Given the description of an element on the screen output the (x, y) to click on. 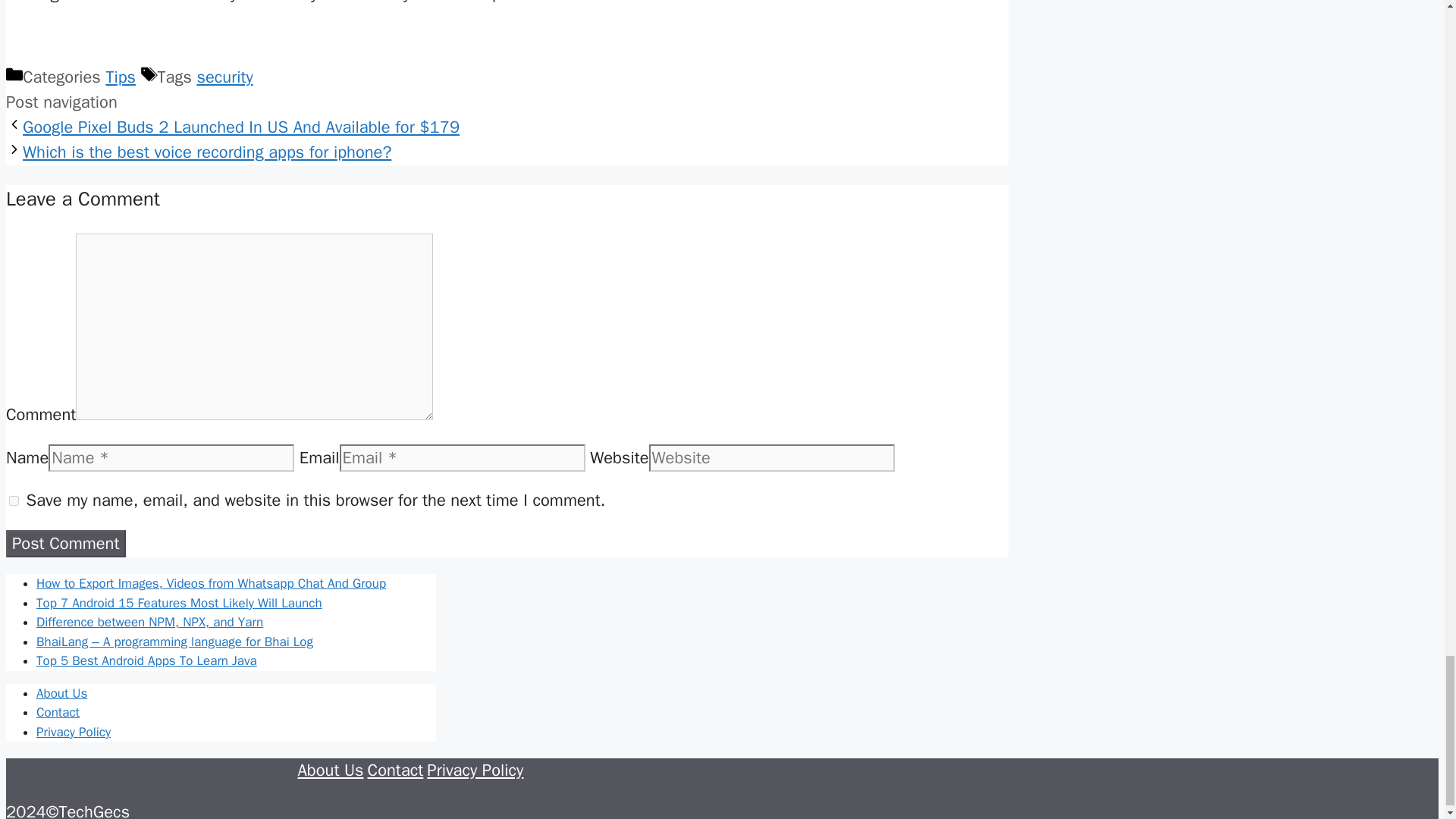
Post Comment (65, 543)
yes (13, 501)
Previous (241, 127)
Next (207, 151)
